Given the description of an element on the screen output the (x, y) to click on. 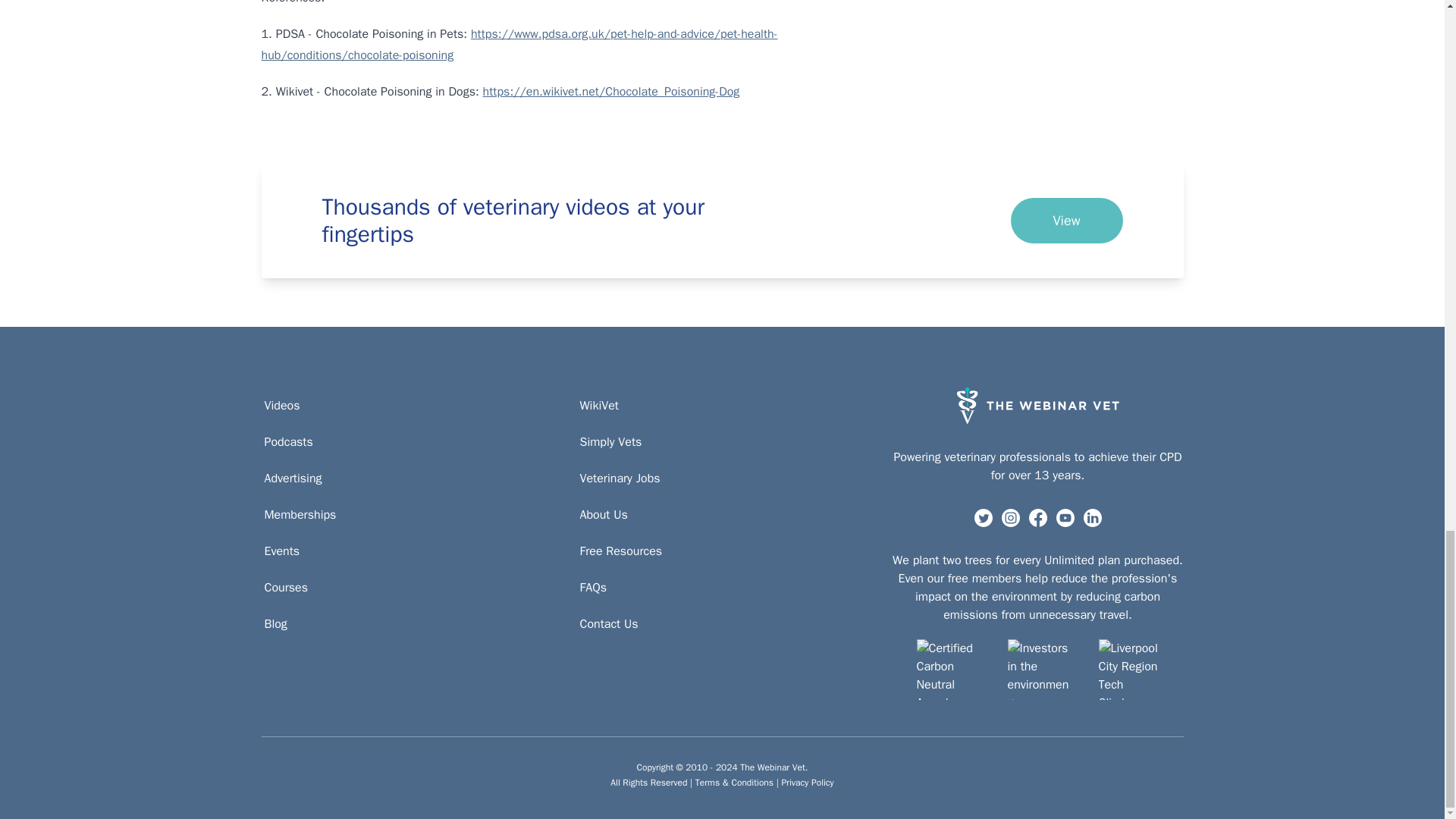
Facebook (1036, 517)
Events (281, 550)
Twitter (982, 517)
Blog (274, 623)
WikiVet (598, 405)
Contact Us (608, 623)
Podcasts (287, 441)
Free Resources (620, 550)
Courses (285, 587)
Veterinary Jobs (619, 478)
Advertising (292, 478)
FAQs (592, 587)
About Us (603, 514)
Instagram (1010, 517)
Youtube (1064, 517)
